Given the description of an element on the screen output the (x, y) to click on. 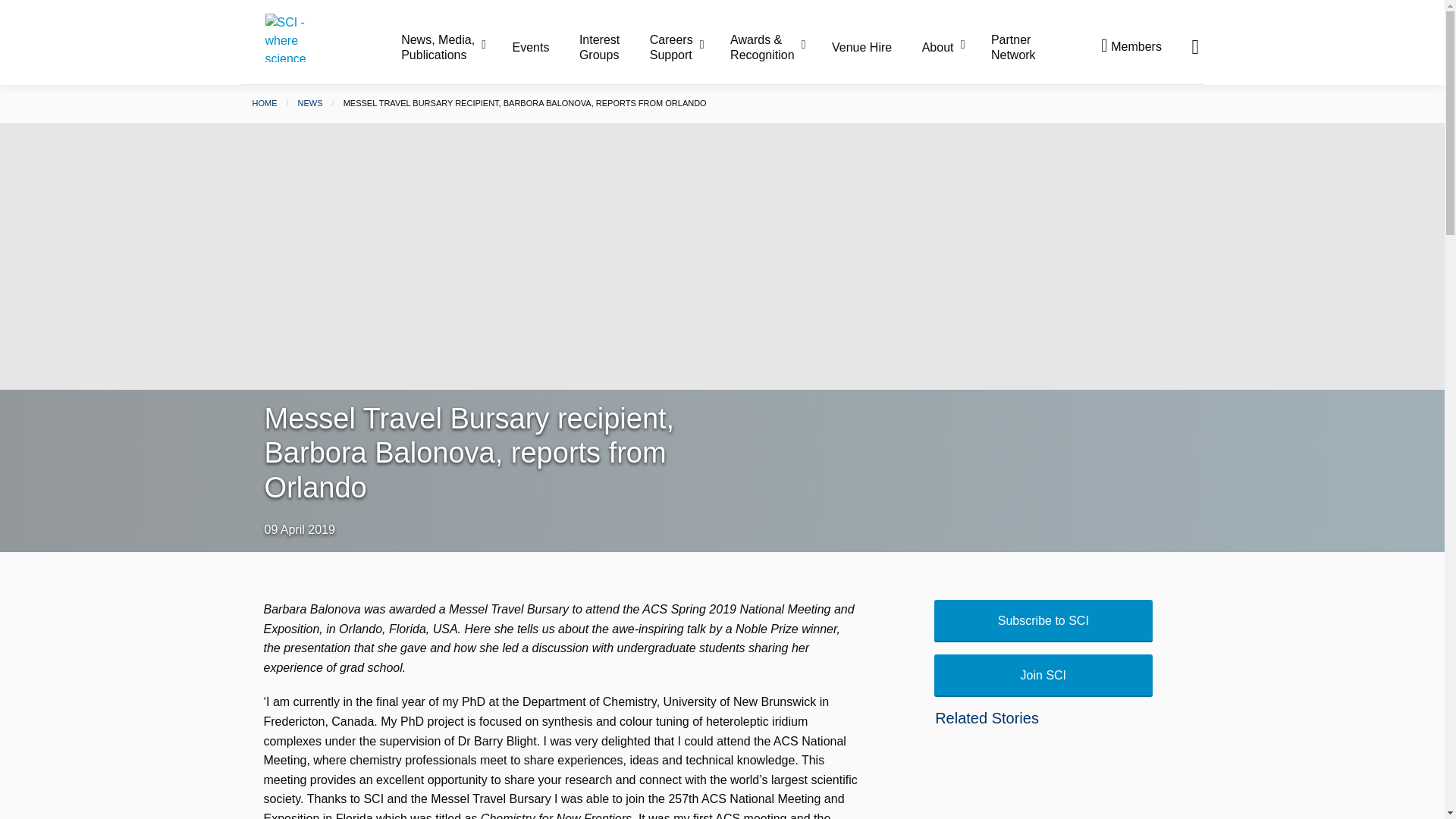
Events (544, 47)
News, Media, Publications (454, 47)
Venue Hire (874, 47)
Careers Support (687, 47)
About (954, 47)
Partner Network (1013, 47)
Interest Groups (612, 47)
